Given the description of an element on the screen output the (x, y) to click on. 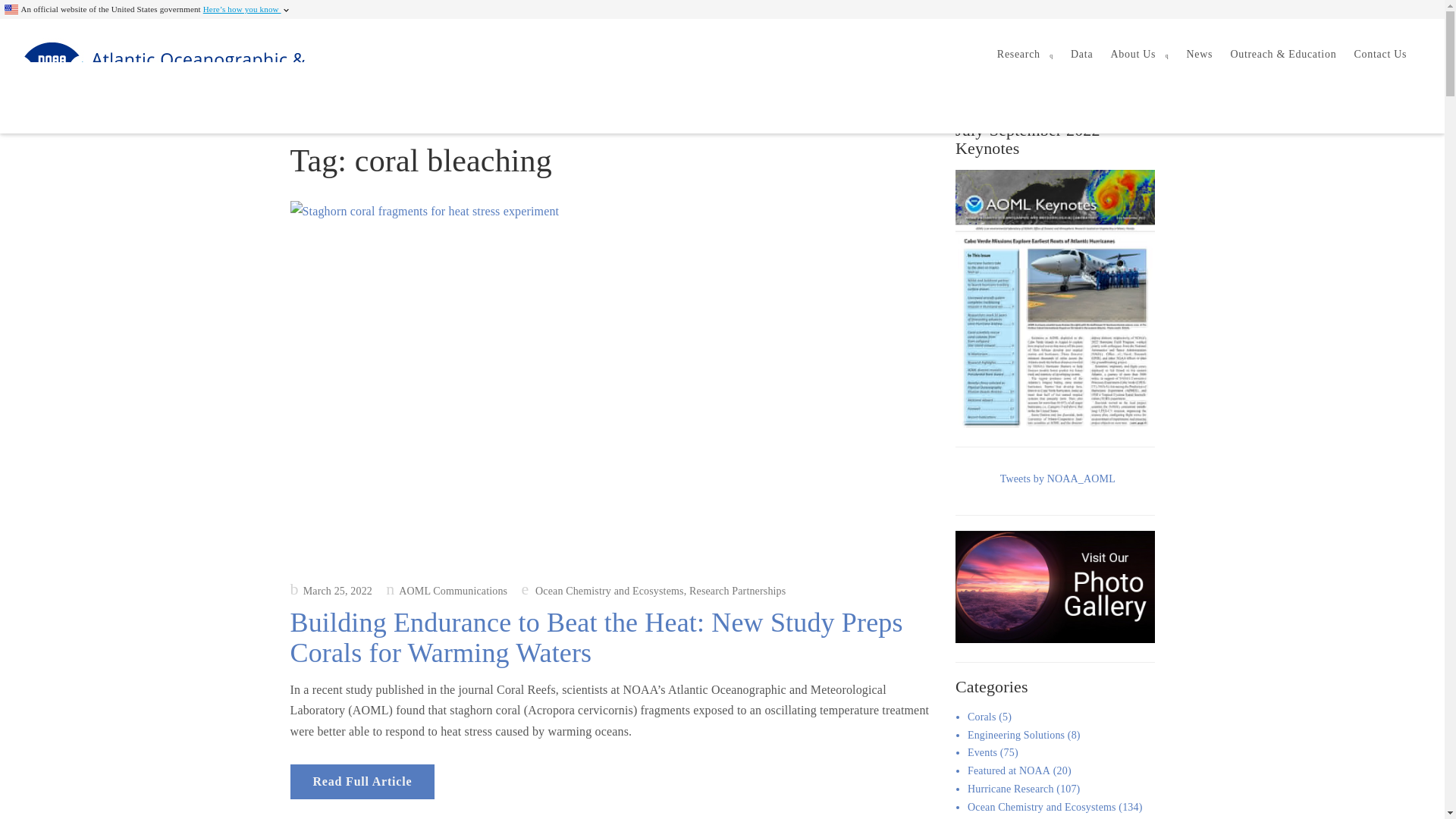
Data (1080, 54)
Research Partnerships (737, 591)
Read Full Article (361, 781)
Ocean Chemistry and Ecosystems (609, 591)
Contact Us (1380, 54)
Research (1024, 54)
About Us (1139, 54)
March 25, 2022 (330, 591)
